Given the description of an element on the screen output the (x, y) to click on. 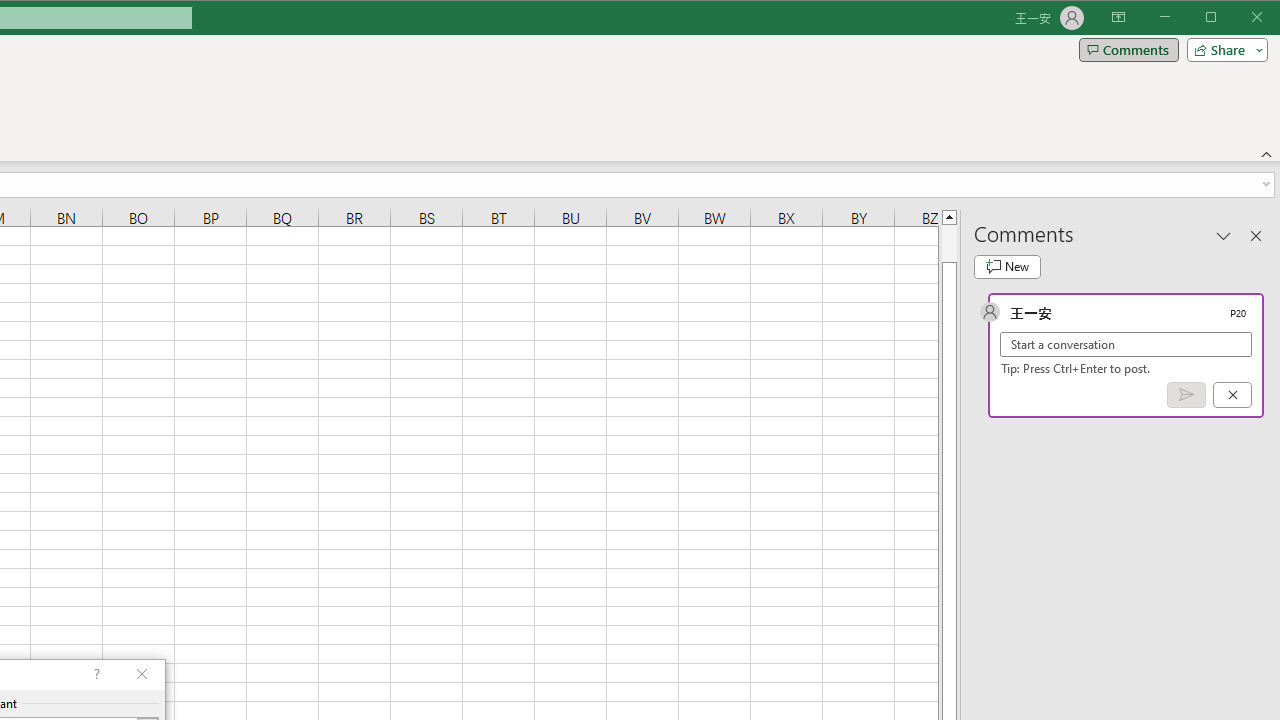
Page up (948, 243)
Start a conversation (1126, 344)
Post comment (Ctrl + Enter) (1186, 395)
Cancel (1232, 395)
New comment (1007, 266)
